Given the description of an element on the screen output the (x, y) to click on. 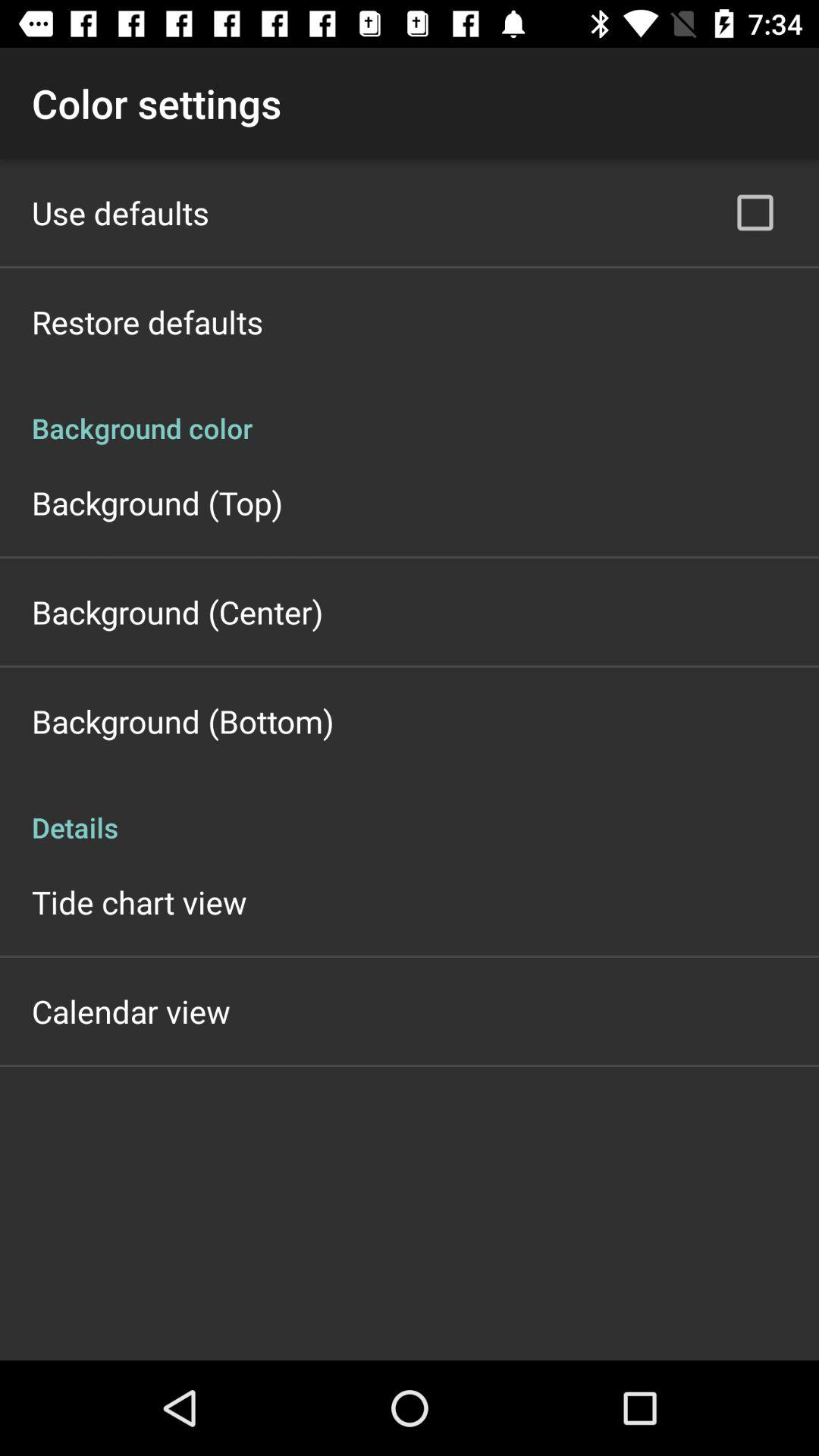
choose icon below background (top) item (177, 611)
